Given the description of an element on the screen output the (x, y) to click on. 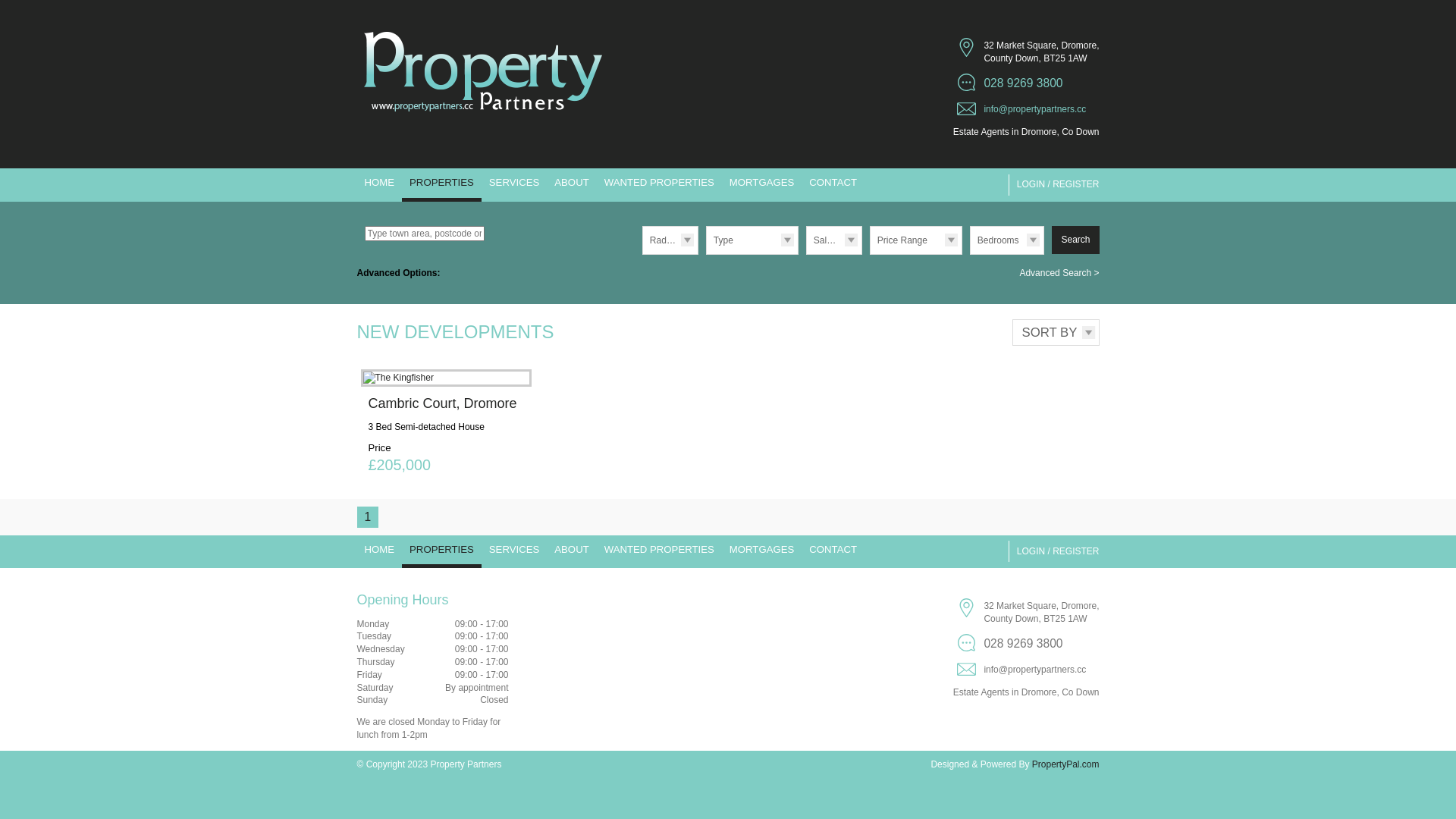
Advanced Search > Element type: text (1058, 272)
LOGIN / REGISTER Element type: text (1054, 551)
MORTGAGES Element type: text (761, 551)
SERVICES Element type: text (513, 184)
list Element type: text (1074, 239)
Radius Element type: text (670, 240)
Cambric Court, Dromore Element type: text (442, 403)
CONTACT Element type: text (832, 184)
CONTACT Element type: text (832, 551)
HOME Element type: text (378, 184)
info@propertypartners.cc Element type: text (1027, 668)
Type Element type: text (751, 240)
WANTED PROPERTIES Element type: text (658, 551)
SERVICES Element type: text (513, 551)
LOGIN / REGISTER Element type: text (1054, 184)
ABOUT Element type: text (571, 551)
PropertyPal.com Element type: text (1065, 764)
HOME Element type: text (378, 551)
info@propertypartners.cc Element type: text (1027, 108)
Price Range Element type: text (915, 240)
028 9269 3800 Element type: text (1027, 642)
list Element type: text (1098, 225)
028 9269 3800 Element type: text (1027, 81)
Bedrooms Element type: text (1006, 240)
MORTGAGES Element type: text (761, 184)
Sale/Rent Element type: text (833, 240)
ABOUT Element type: text (571, 184)
WANTED PROPERTIES Element type: text (658, 184)
